Given the description of an element on the screen output the (x, y) to click on. 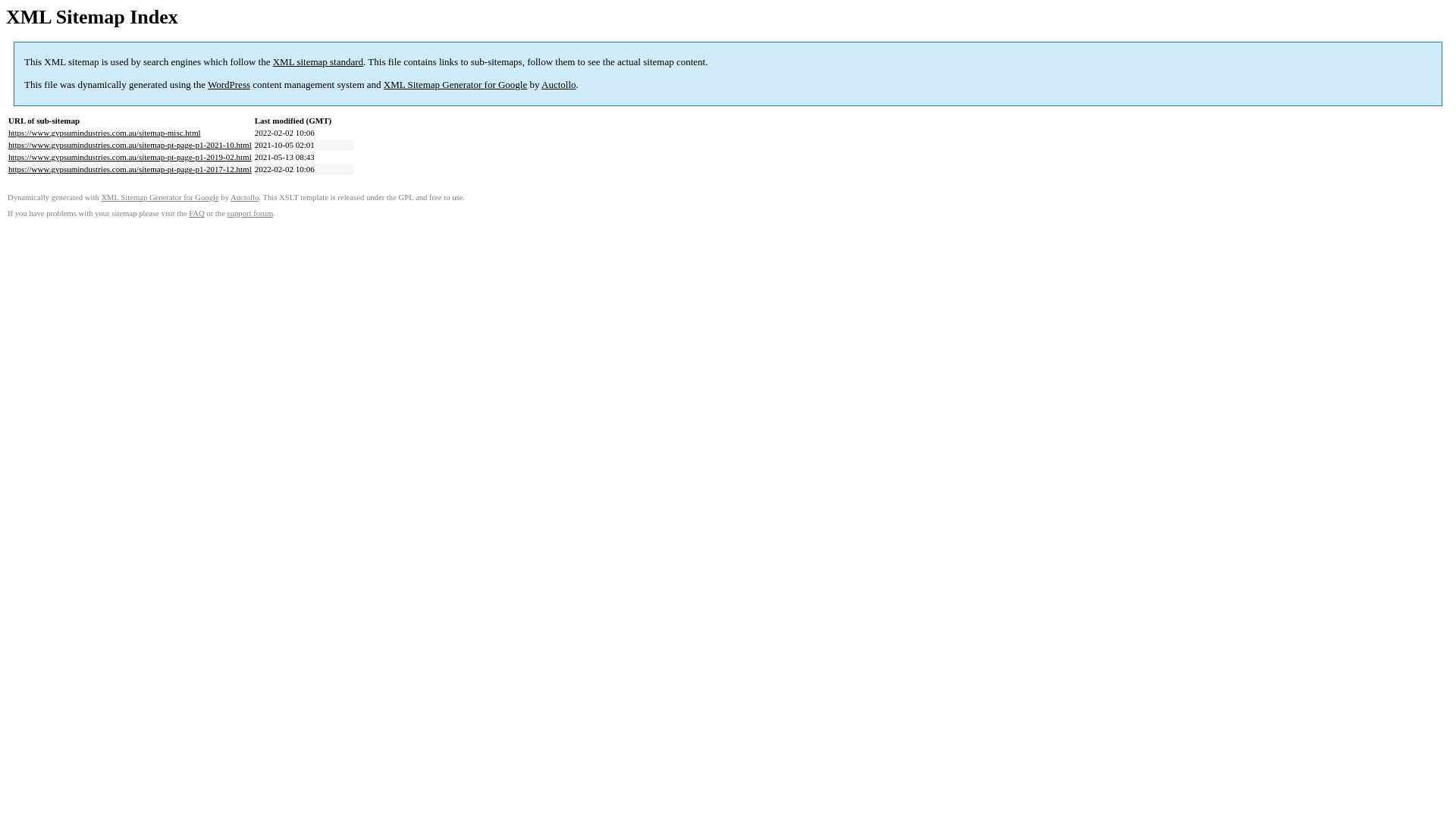
XML sitemap standard Element type: text (318, 61)
Auctollo Element type: text (558, 84)
WordPress Element type: text (228, 84)
XML Sitemap Generator for Google Element type: text (455, 84)
Auctollo Element type: text (244, 197)
XML Sitemap Generator for Google Element type: text (159, 197)
https://www.gypsumindustries.com.au/sitemap-misc.html Element type: text (104, 132)
support forum Element type: text (250, 213)
FAQ Element type: text (196, 213)
